Given the description of an element on the screen output the (x, y) to click on. 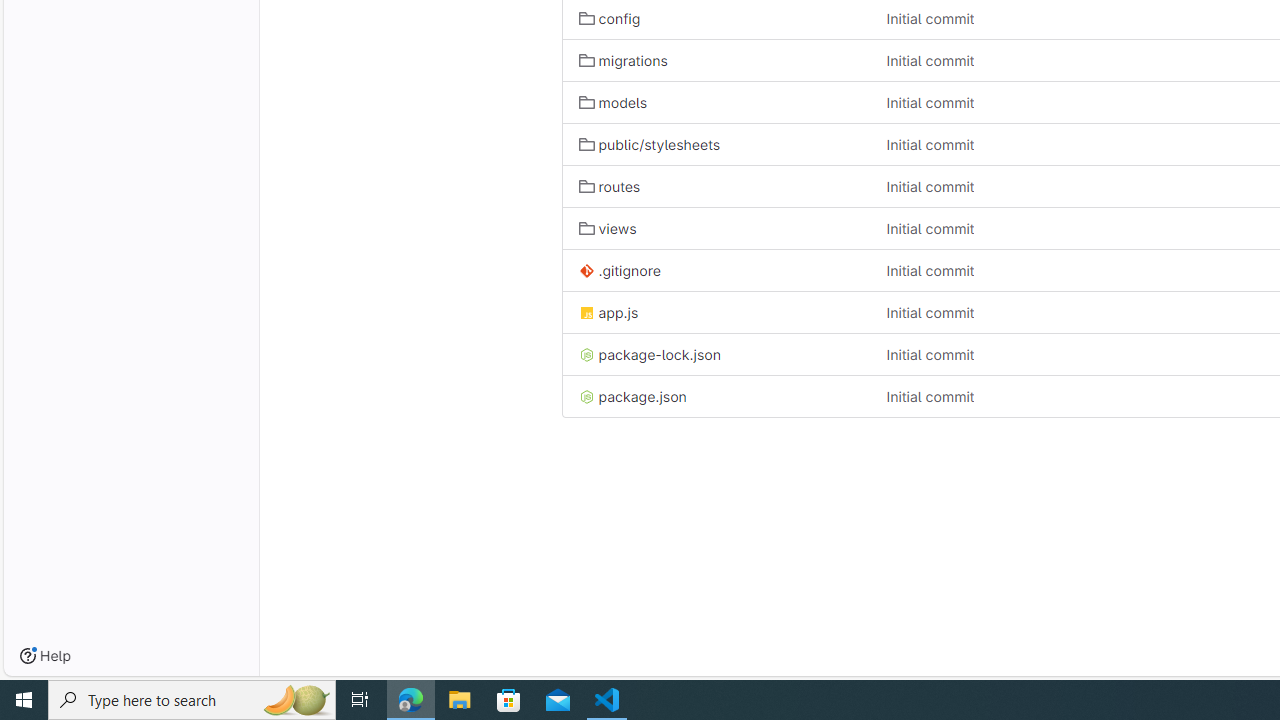
views (607, 228)
app.js (715, 312)
.gitignore (619, 270)
models (715, 101)
public/stylesheets (649, 144)
package-lock.json (715, 353)
.gitignore (715, 270)
views (715, 228)
